Given the description of an element on the screen output the (x, y) to click on. 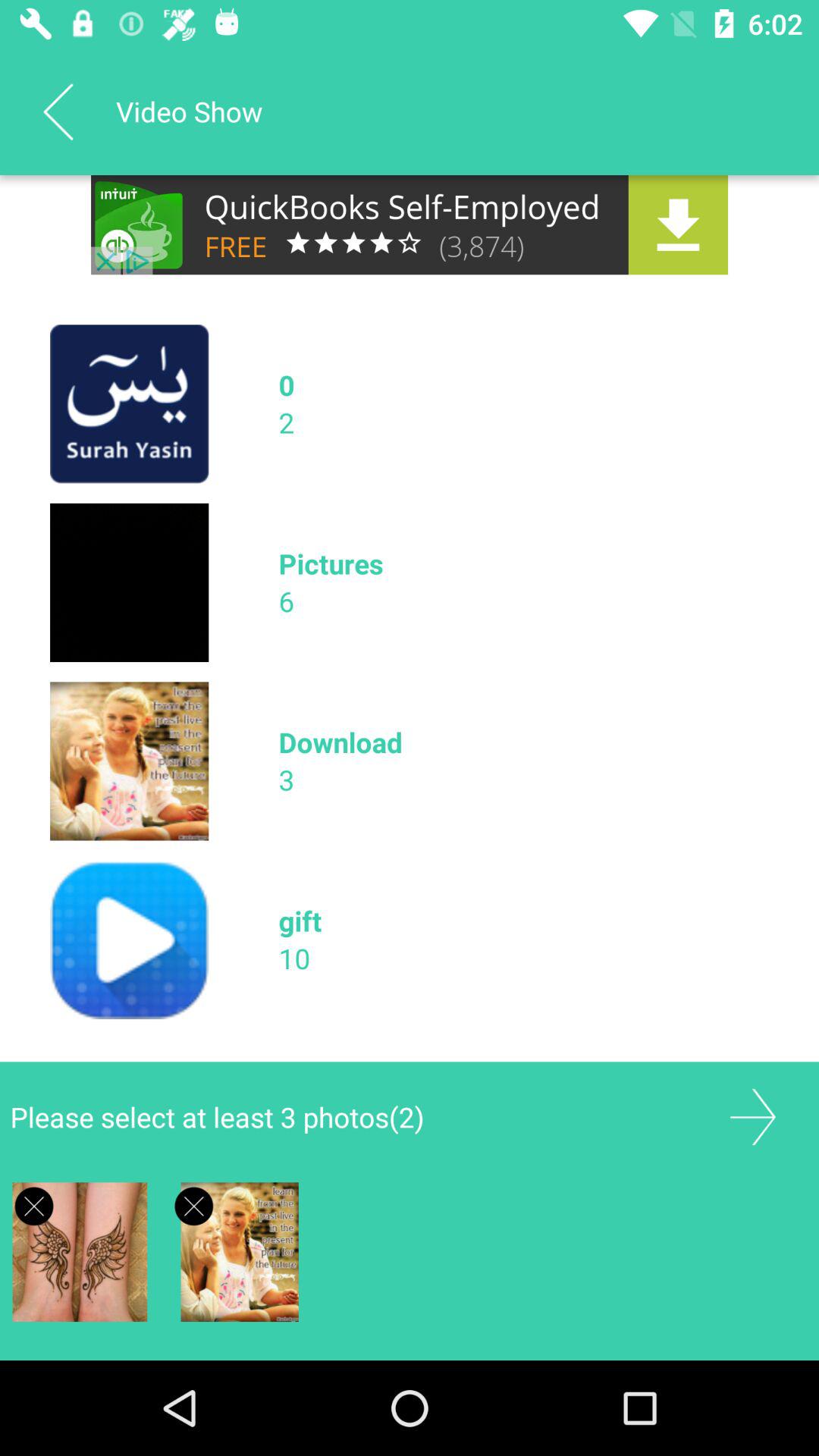
advertisement (409, 224)
